Given the description of an element on the screen output the (x, y) to click on. 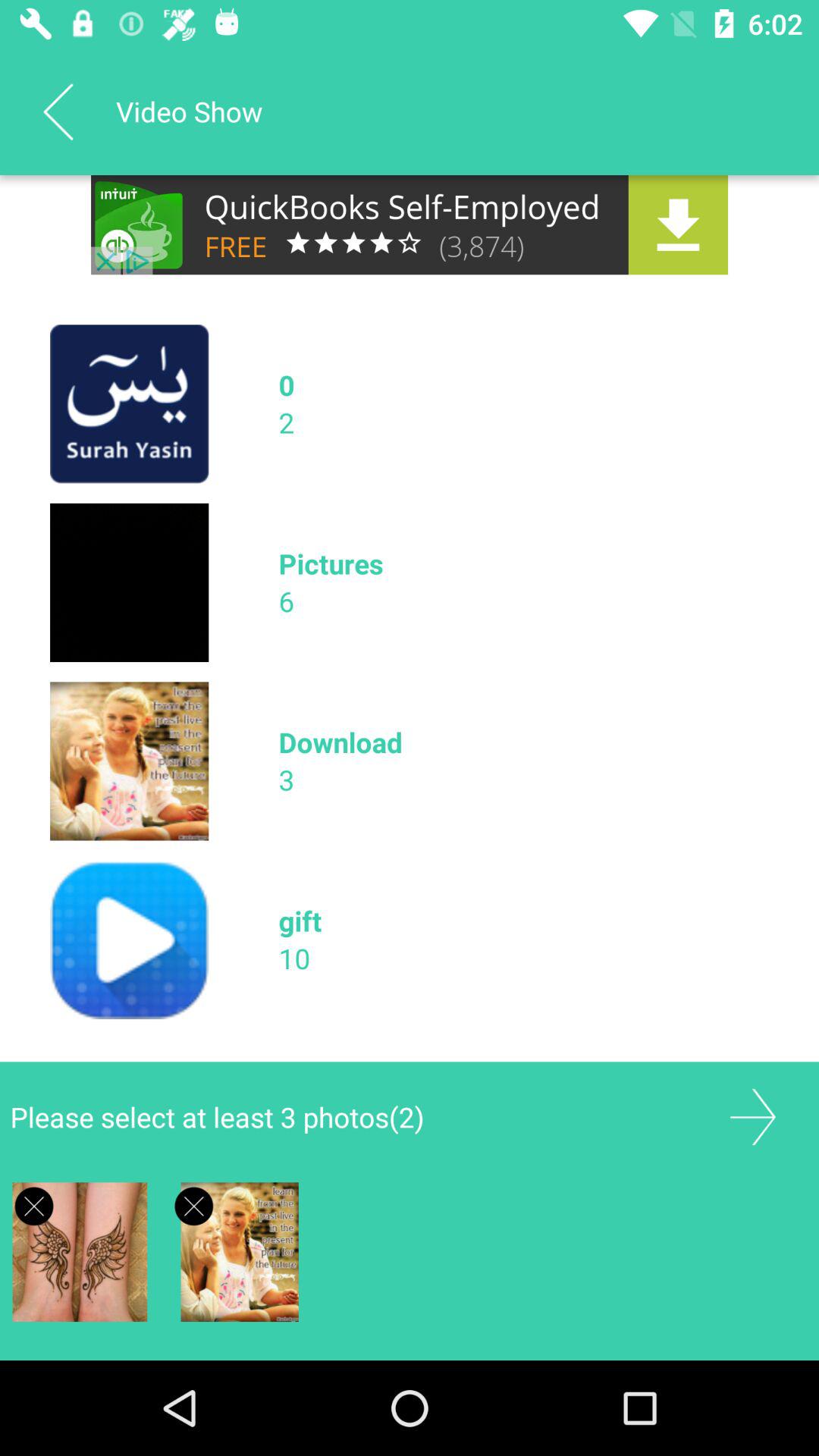
advertisement (409, 224)
